Given the description of an element on the screen output the (x, y) to click on. 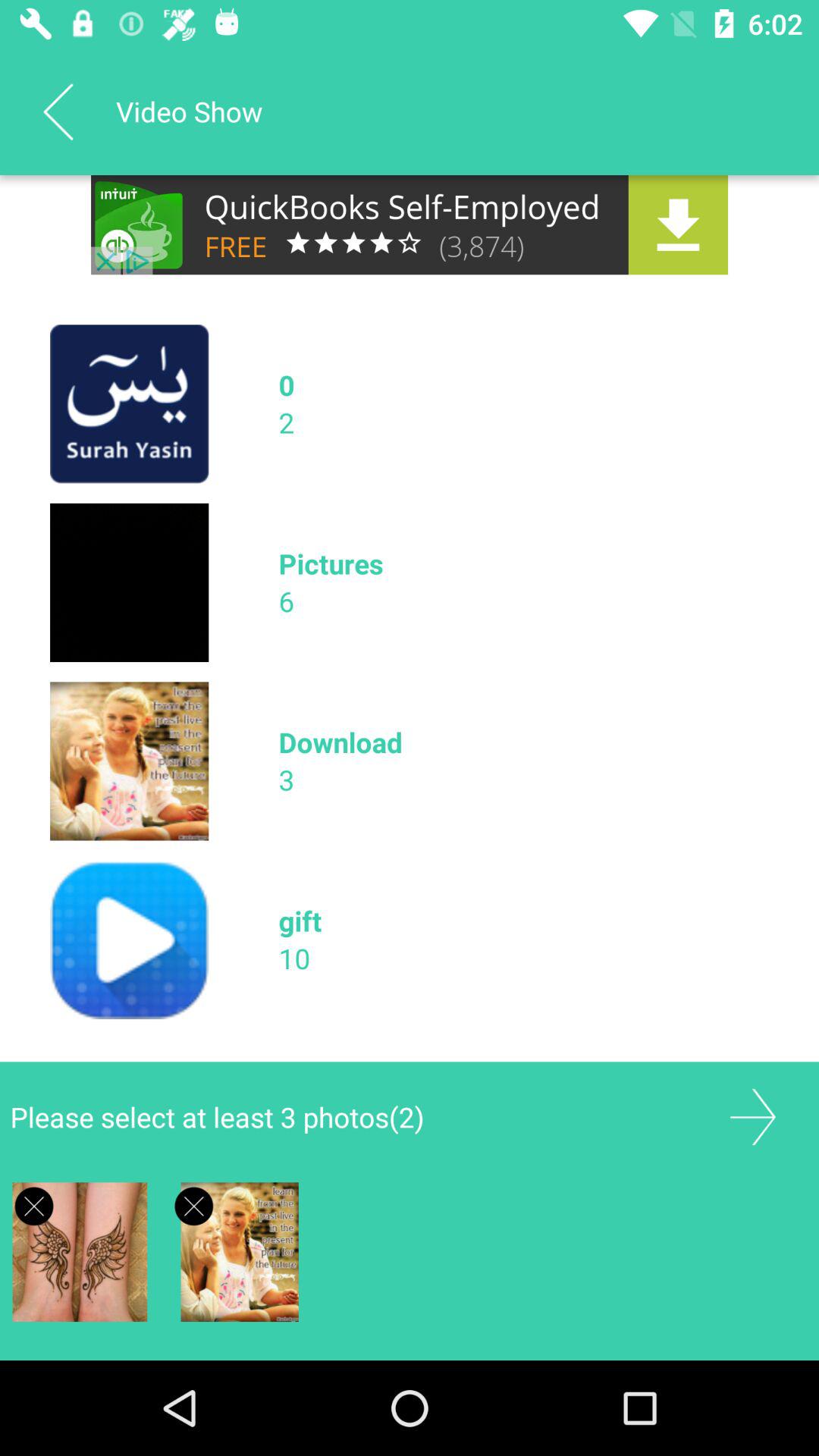
advertisement (409, 224)
